Given the description of an element on the screen output the (x, y) to click on. 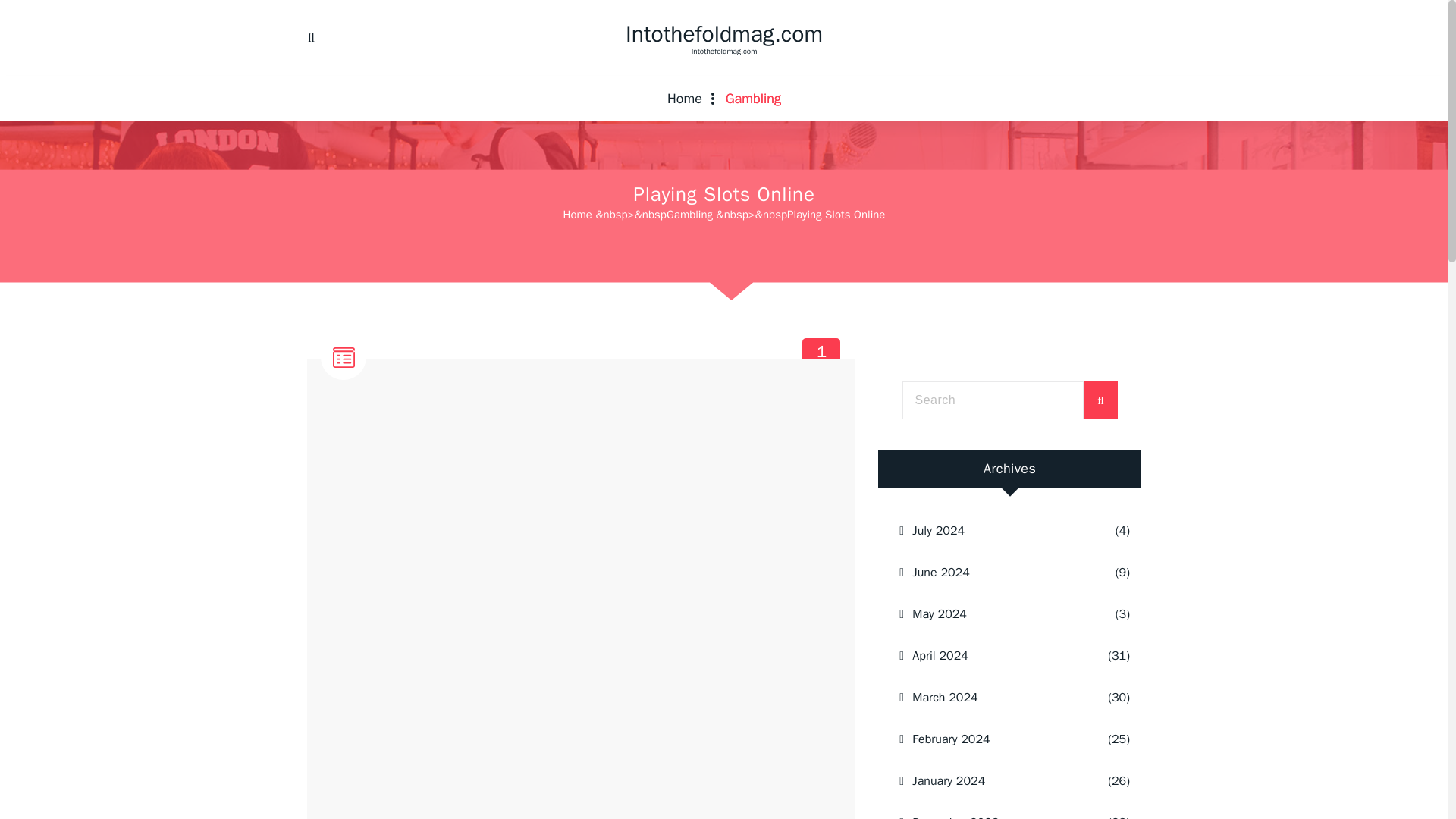
Gambling (753, 98)
Home (577, 214)
February 2024 (990, 739)
Home (684, 98)
December 2023 (821, 357)
Gambling (990, 810)
Gambling (753, 98)
April 2024 (359, 396)
January 2024 (990, 655)
Home (990, 780)
July 2024 (684, 98)
June 2024 (994, 530)
Gambling (994, 572)
March 2024 (689, 214)
